Given the description of an element on the screen output the (x, y) to click on. 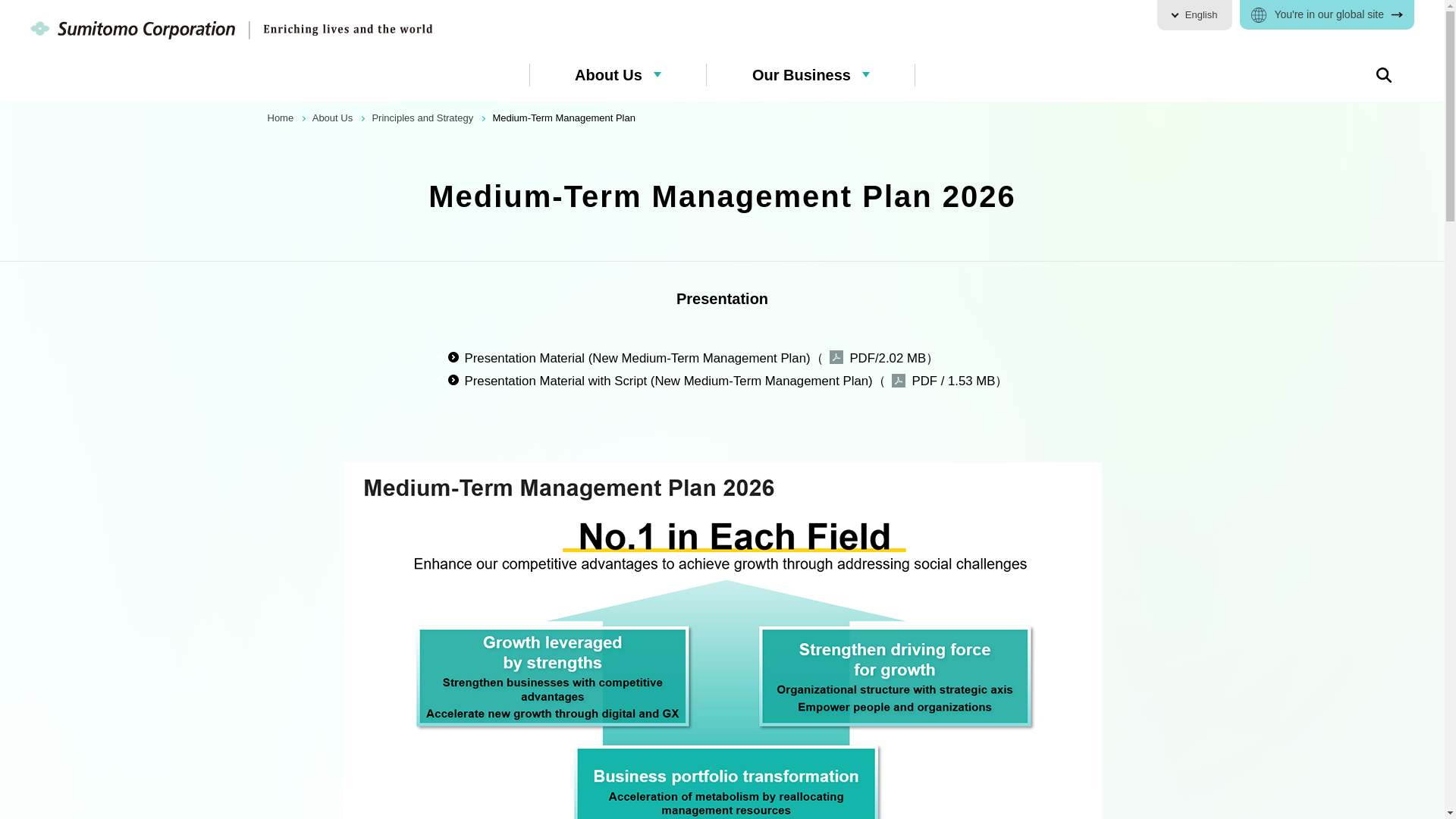
Principles and Strategy (423, 117)
Home (280, 117)
You're in our global site (1326, 14)
About Us (334, 117)
